Given the description of an element on the screen output the (x, y) to click on. 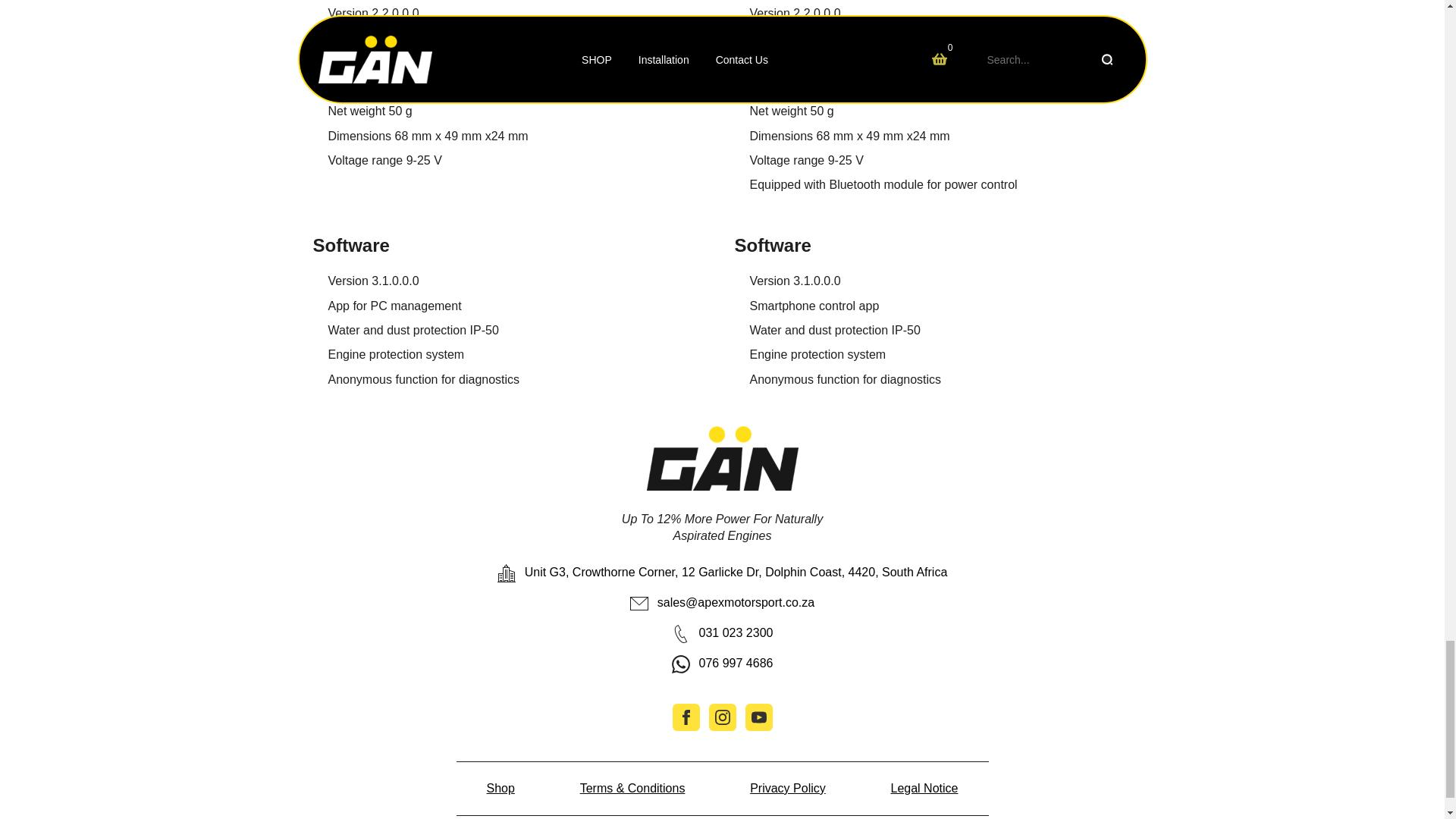
031 023 2300 (722, 633)
076 997 4686 (722, 664)
Shop (500, 788)
Privacy Policy (787, 788)
Legal Notice (924, 788)
